Given the description of an element on the screen output the (x, y) to click on. 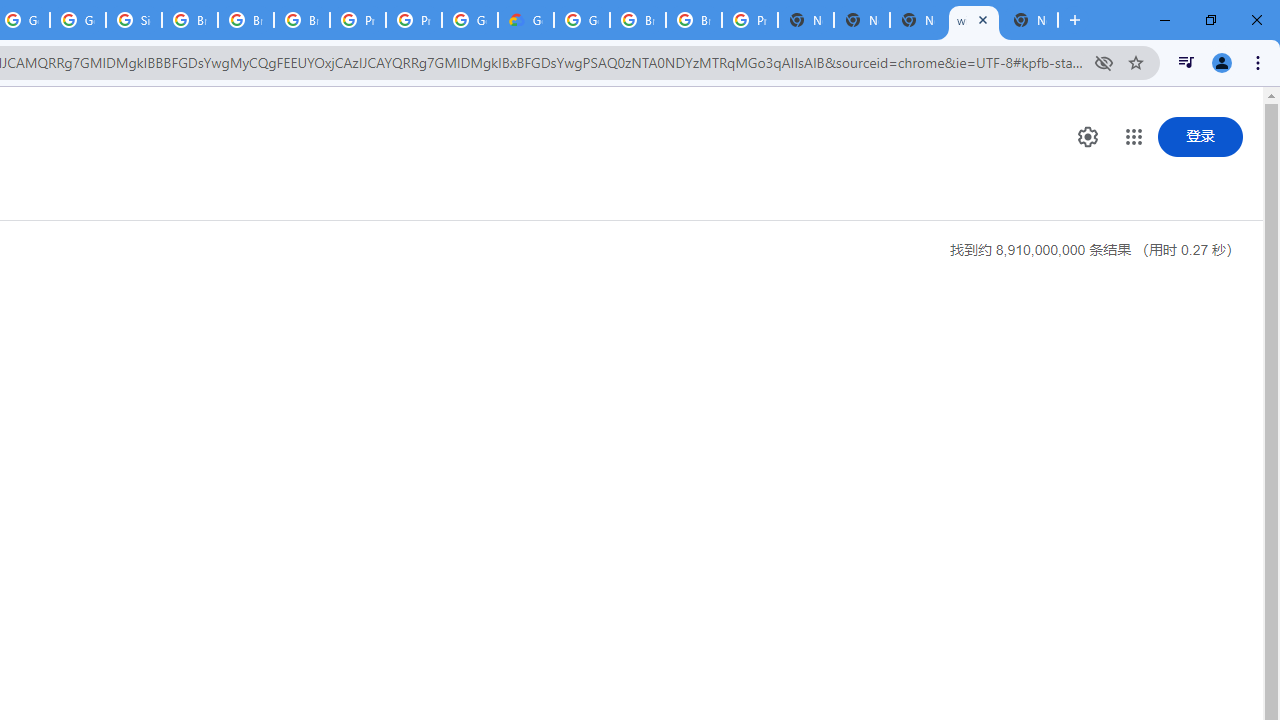
Sign in - Google Accounts (134, 20)
Google Cloud Platform (582, 20)
